Given the description of an element on the screen output the (x, y) to click on. 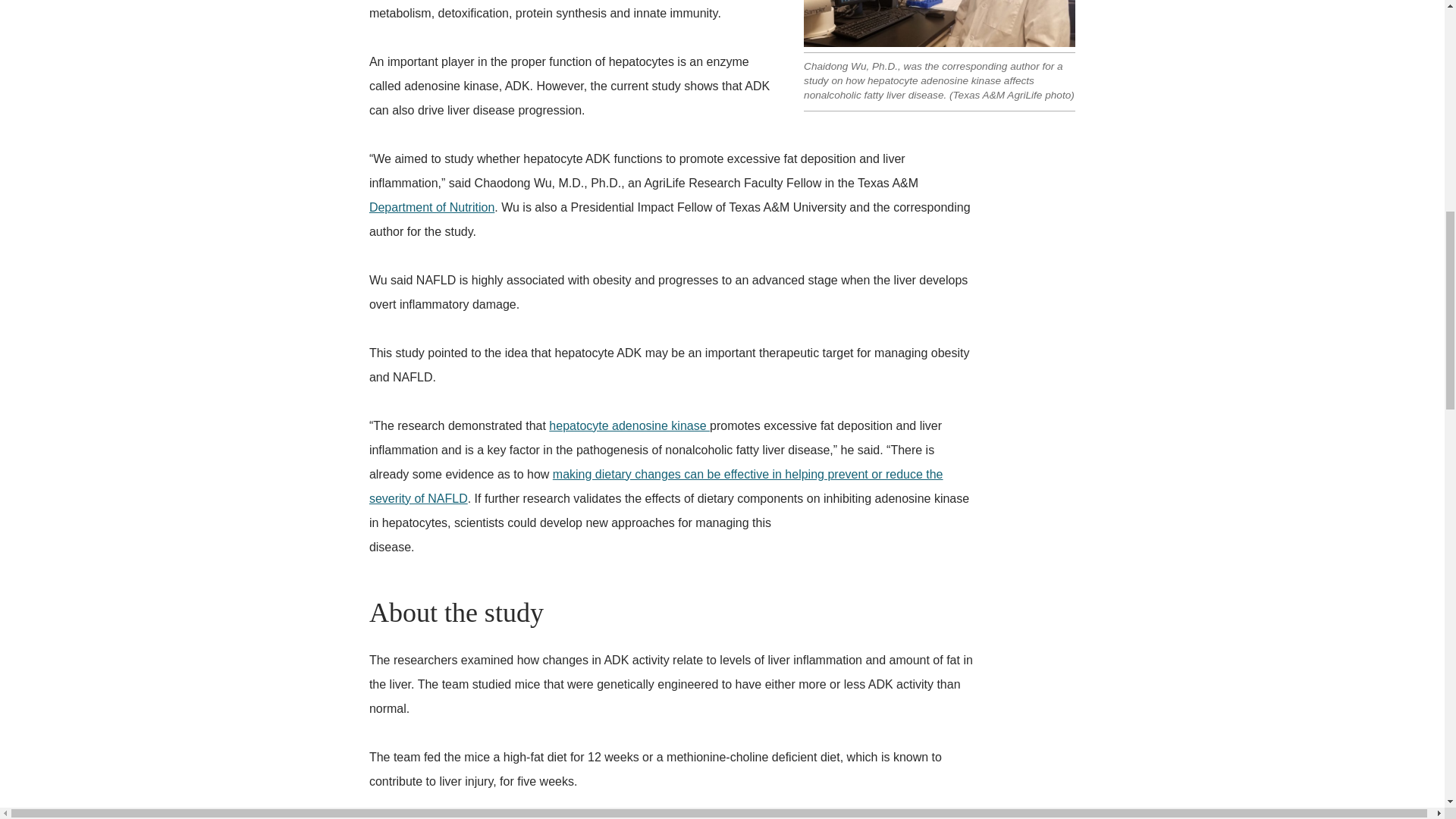
hepatocyte adenosine kinase (629, 425)
Department of Nutrition (432, 206)
